Given the description of an element on the screen output the (x, y) to click on. 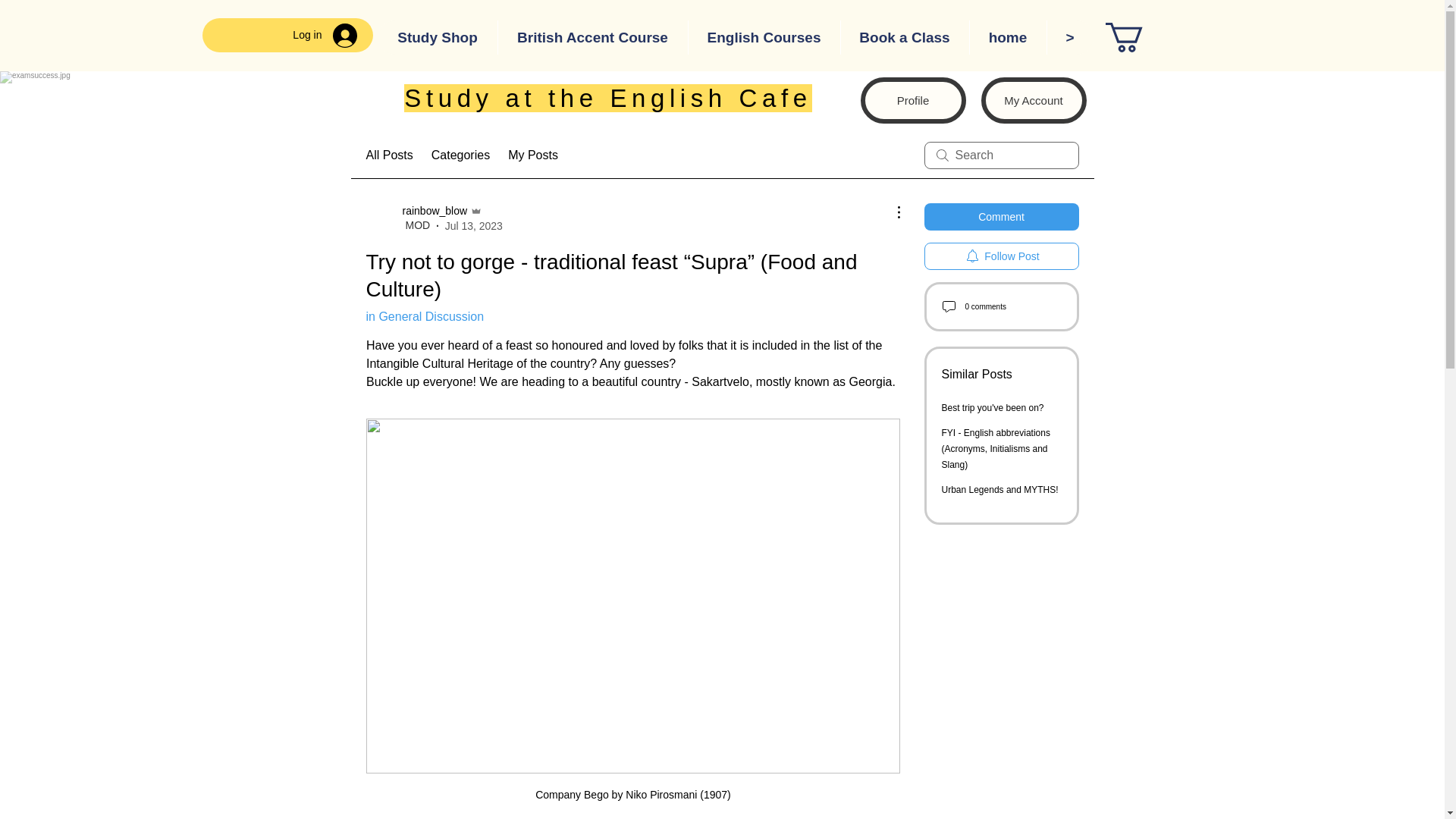
Book a Class (904, 37)
Urban Legends and MYTHS! (1000, 489)
Study Shop (436, 37)
British Accent Course (592, 37)
home (1007, 37)
My Account (1033, 99)
Log in (324, 34)
Best trip you've been on? (992, 407)
Profile (912, 99)
Follow Post (1000, 256)
